Given the description of an element on the screen output the (x, y) to click on. 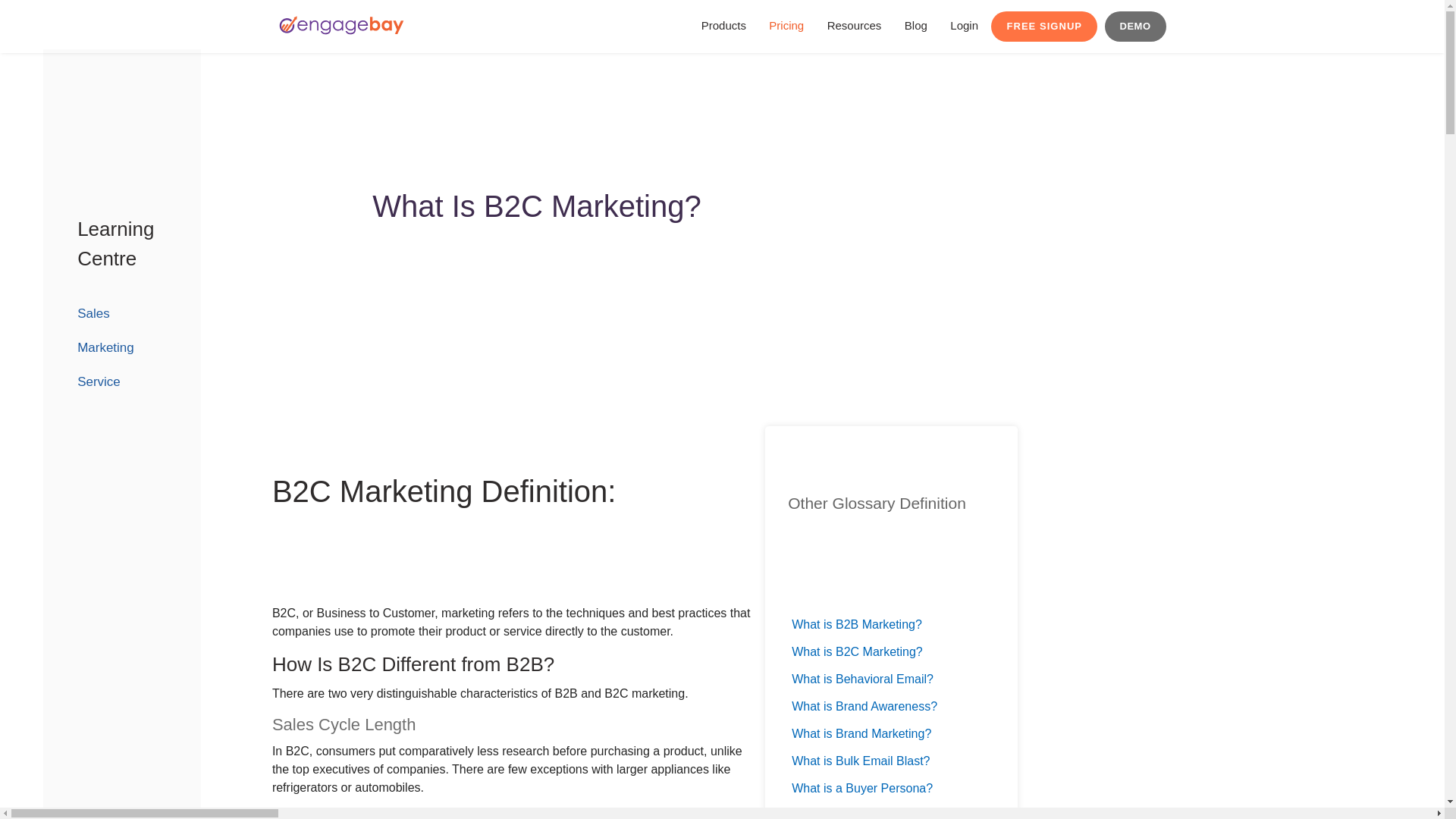
Products (928, 26)
